Given the description of an element on the screen output the (x, y) to click on. 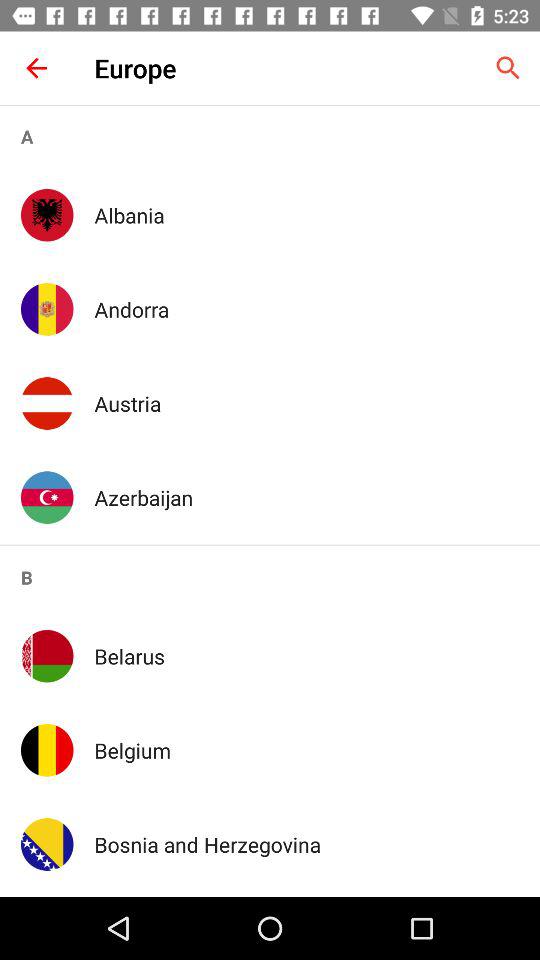
tap the item to the right of the europe item (508, 67)
